Given the description of an element on the screen output the (x, y) to click on. 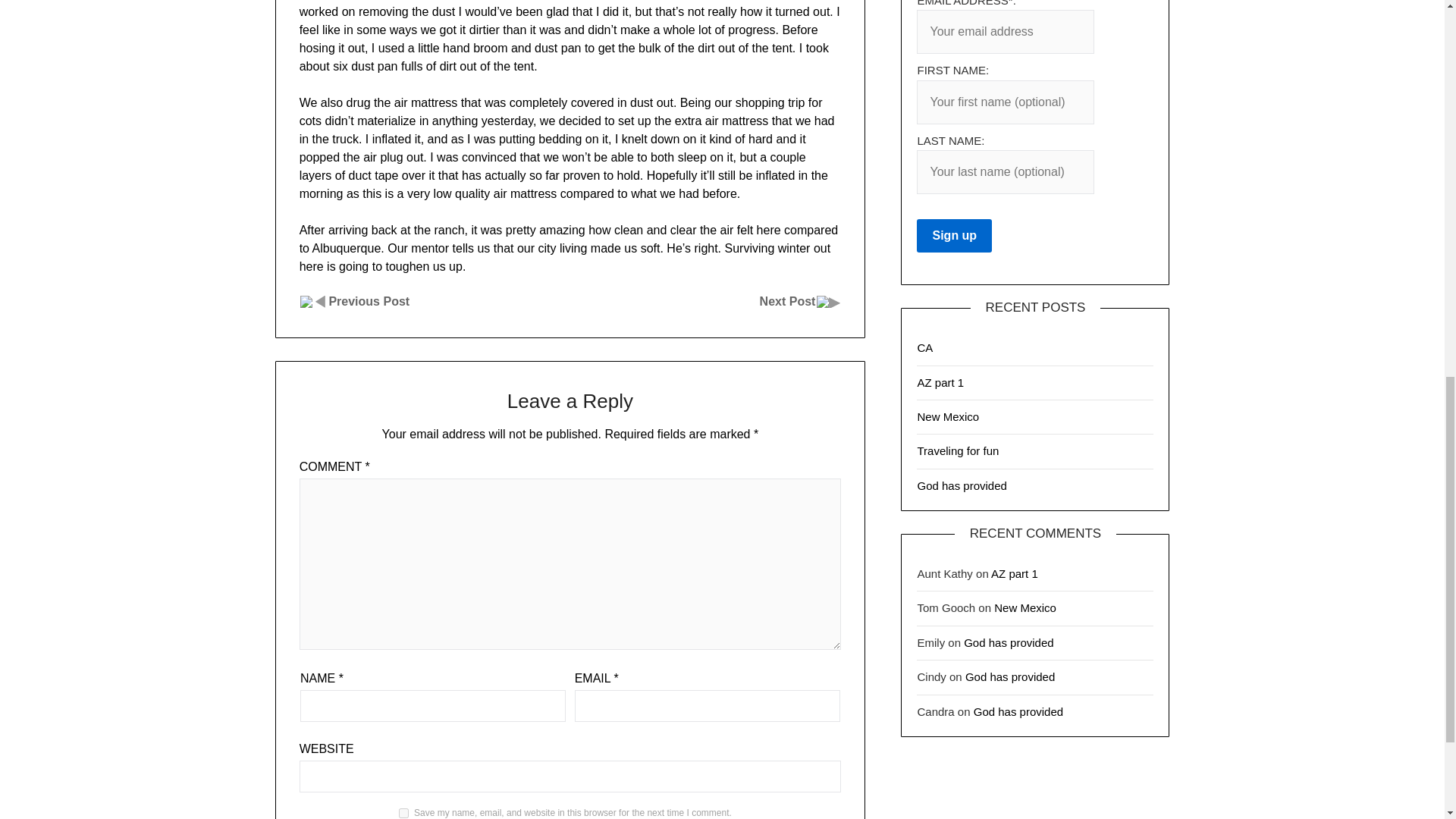
God has provided (1009, 676)
New Mexico (947, 416)
AZ part 1 (940, 382)
Previous Post (369, 300)
yes (403, 813)
Sign up (954, 235)
CA (925, 347)
Traveling for fun (957, 450)
New Mexico (1025, 607)
Building the line (787, 300)
A day in ABQ (369, 300)
God has provided (961, 485)
Next Post (787, 300)
God has provided (1007, 642)
Sign up (954, 235)
